Given the description of an element on the screen output the (x, y) to click on. 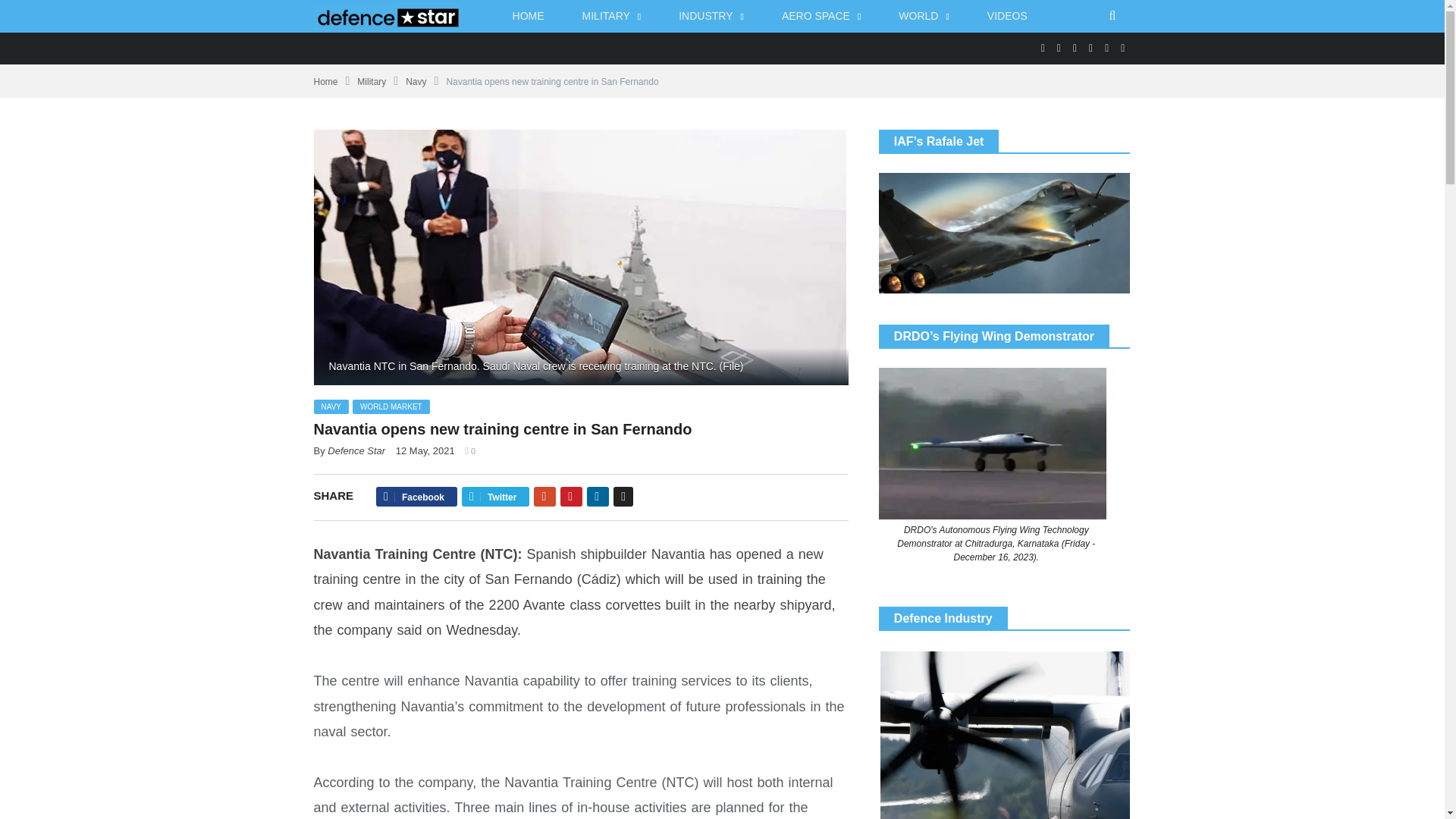
AERO SPACE (820, 16)
MILITARY (612, 16)
Defence News India (388, 15)
INDUSTRY (710, 16)
HOME (528, 16)
WORLD (923, 16)
